Given the description of an element on the screen output the (x, y) to click on. 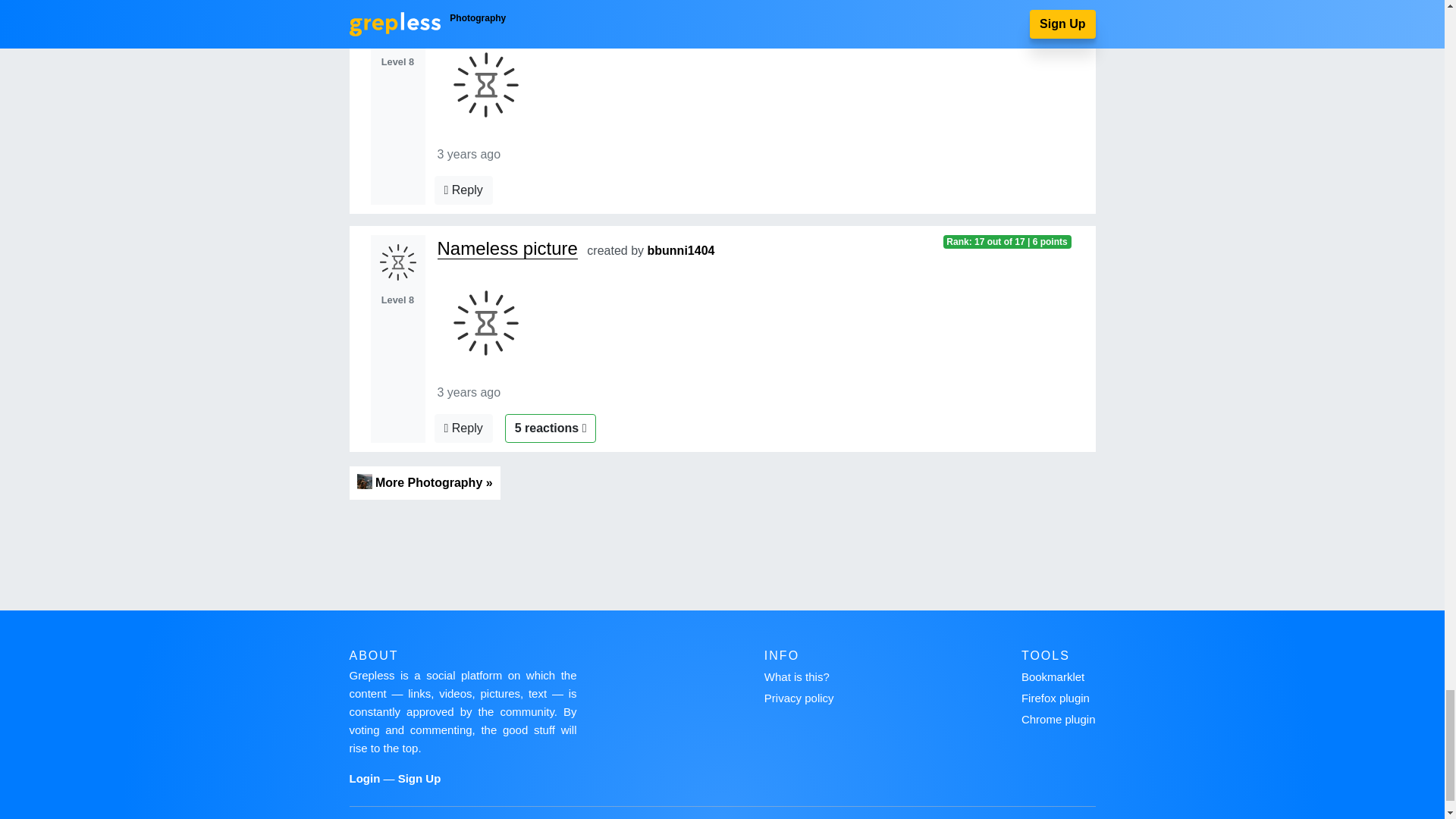
Answers to this response (462, 428)
Answers to this response (462, 190)
